Given the description of an element on the screen output the (x, y) to click on. 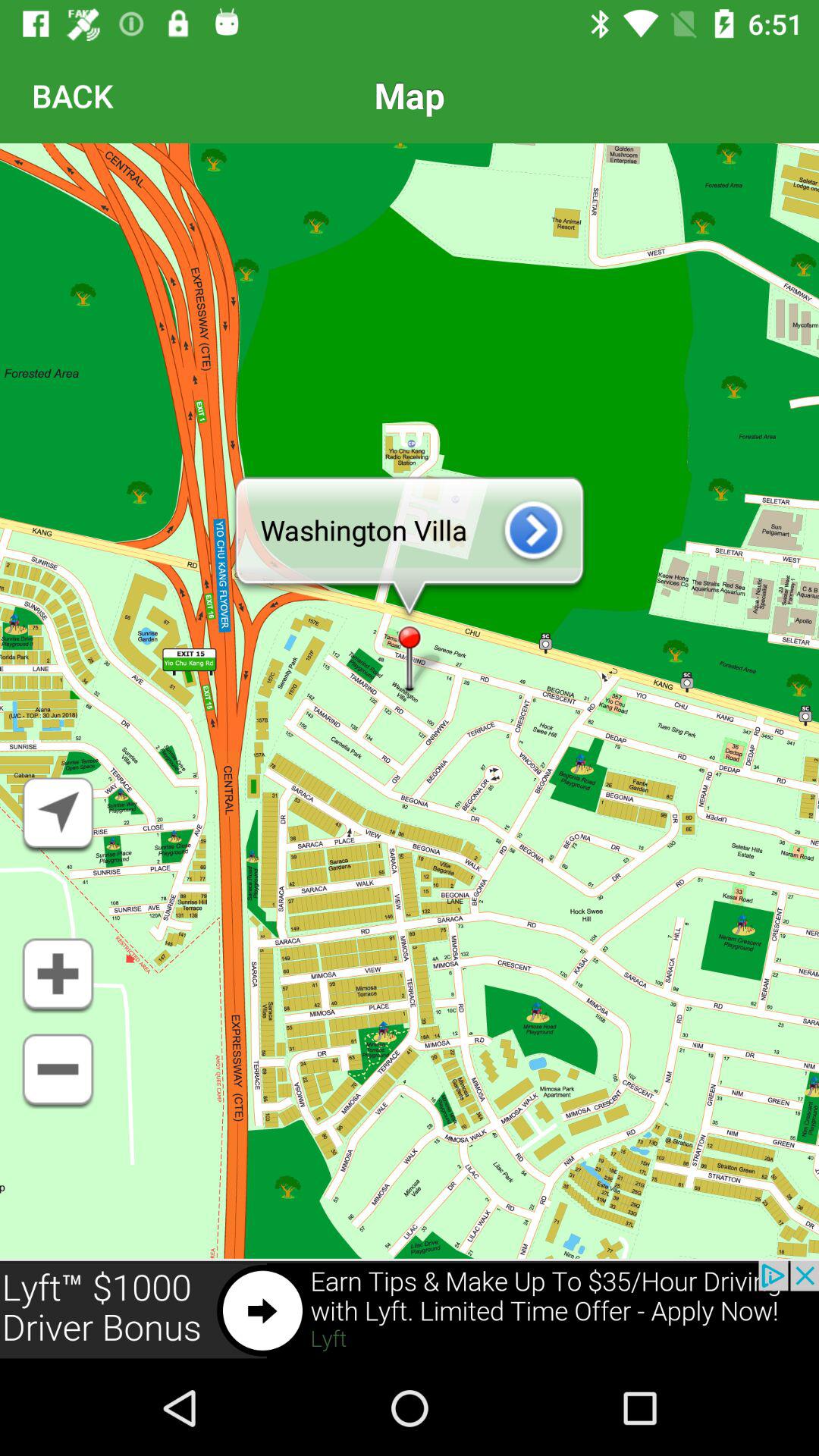
less focus (57, 1071)
